Given the description of an element on the screen output the (x, y) to click on. 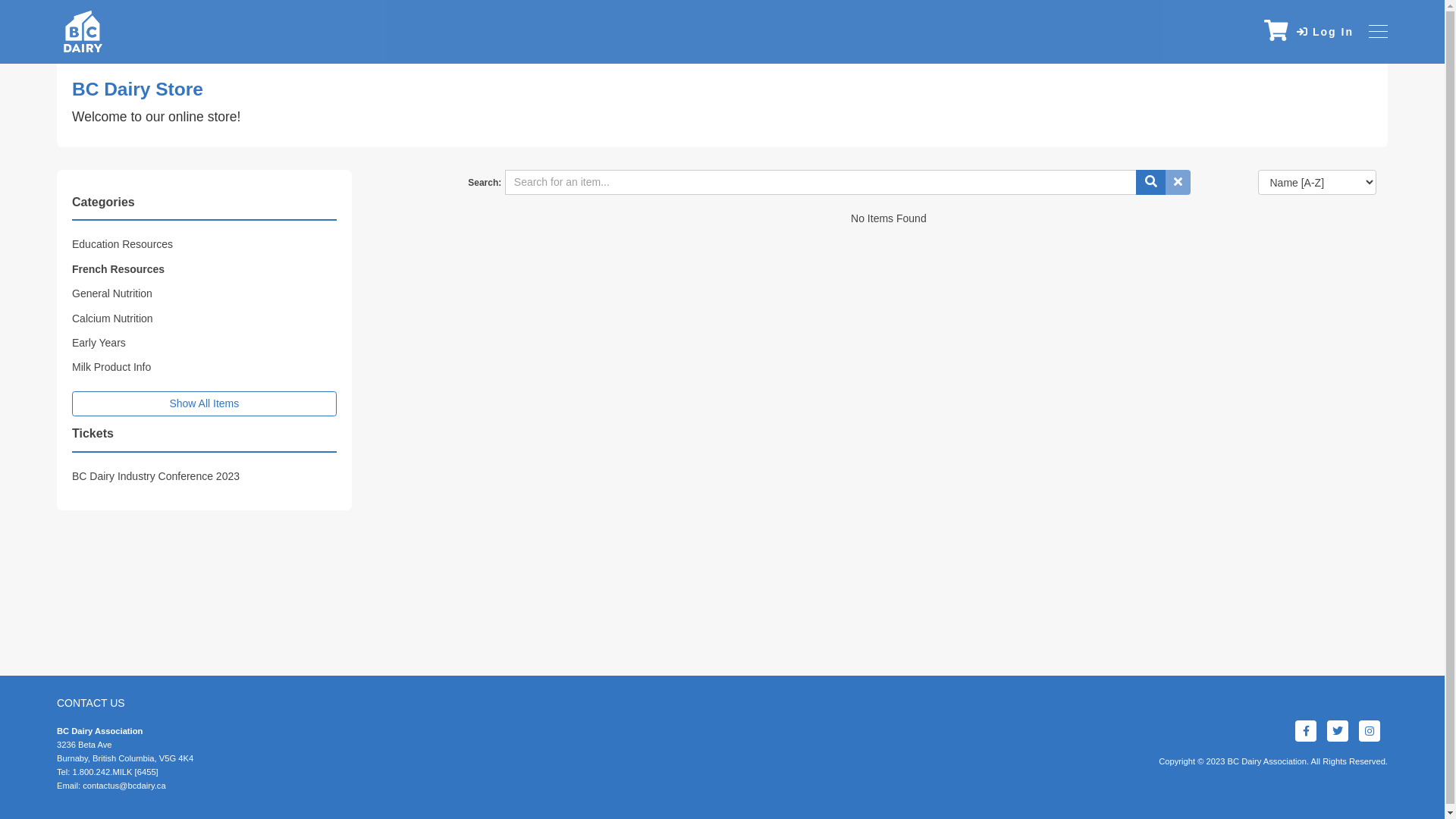
Show All Items Element type: text (204, 404)
General Nutrition Element type: text (112, 293)
Log In Element type: text (1324, 31)
Education Resources Element type: text (122, 244)
Milk Product Info Element type: text (111, 366)
Early Years Element type: text (98, 342)
French Resources Element type: text (118, 269)
BC Dairy Industry Conference 2023 Element type: text (155, 476)
Calcium Nutrition Element type: text (112, 318)
contactus@bcdairy.ca Element type: text (123, 785)
